Given the description of an element on the screen output the (x, y) to click on. 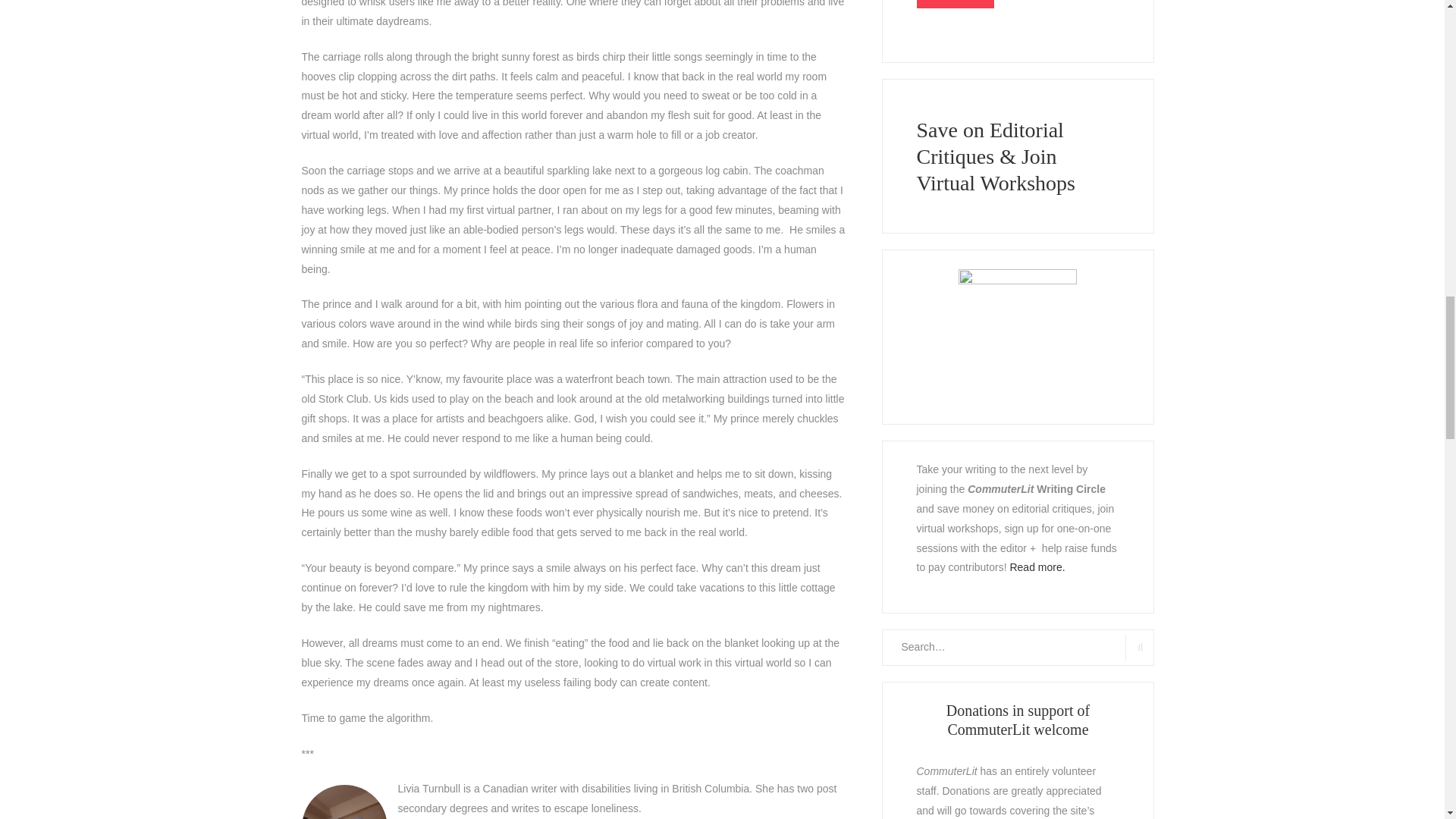
Subscribe (953, 4)
